Given the description of an element on the screen output the (x, y) to click on. 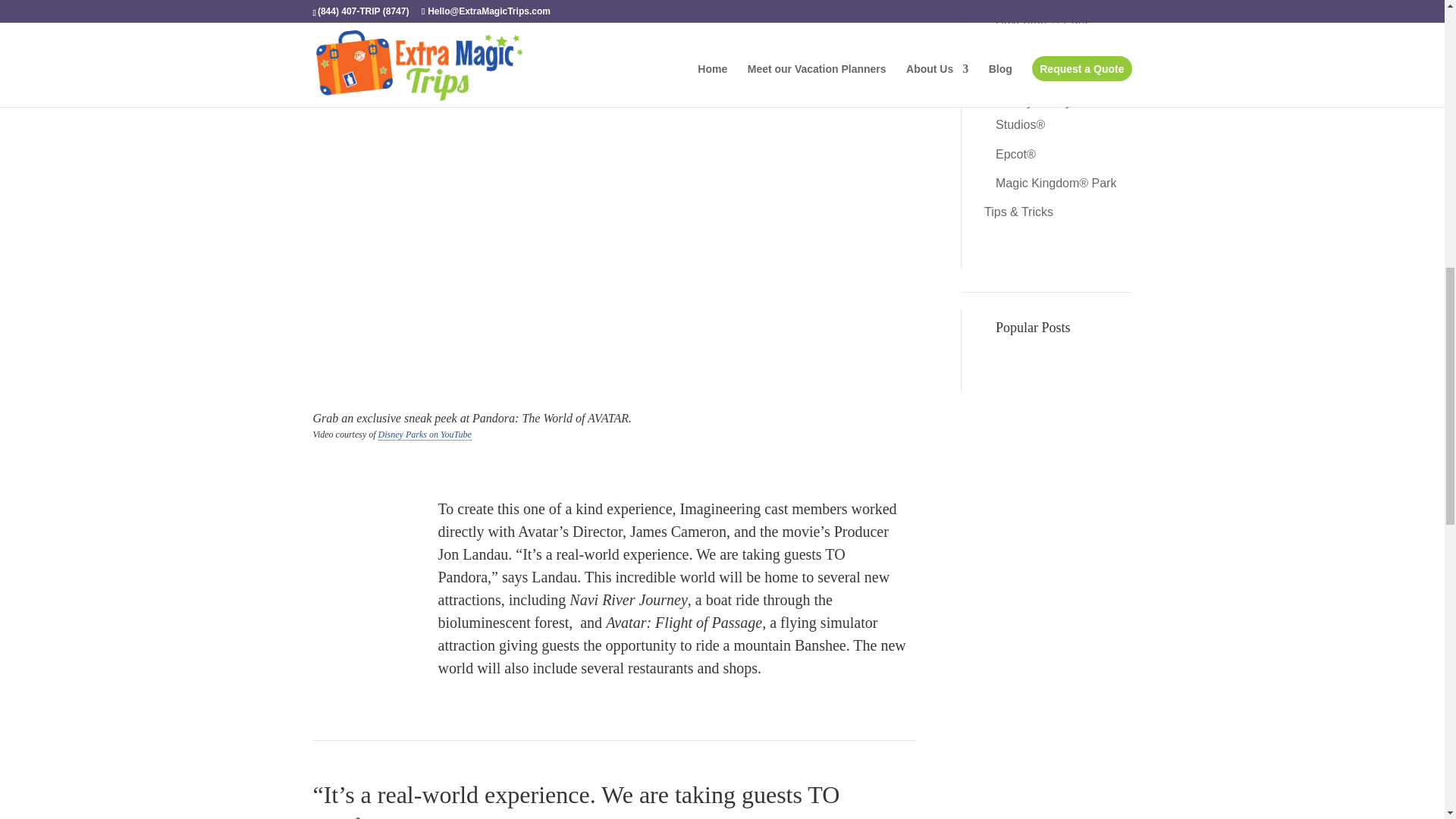
Disney Parks on YouTube (424, 434)
